Given the description of an element on the screen output the (x, y) to click on. 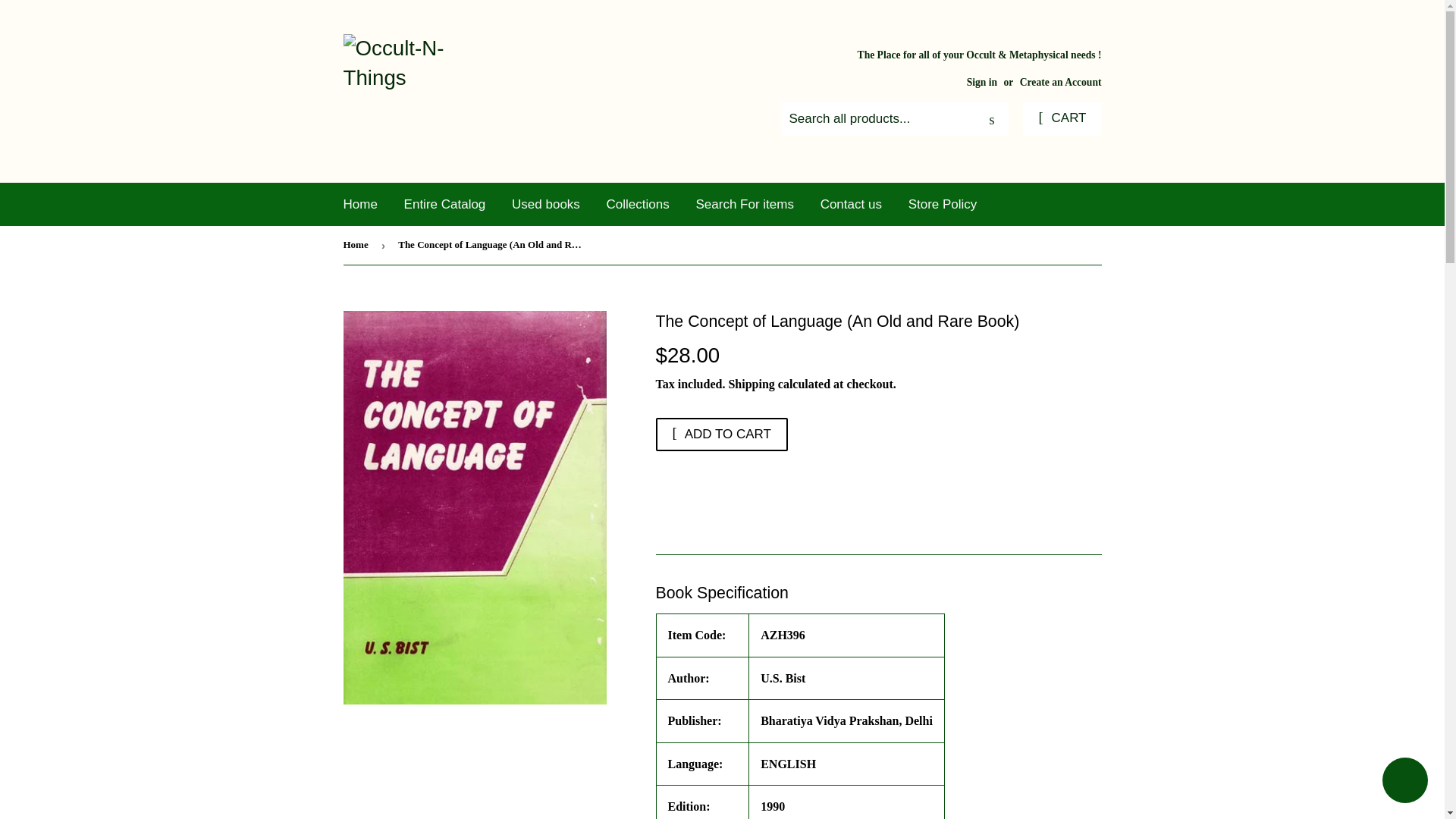
Search For items (744, 204)
Shipping (751, 383)
Contact us (851, 204)
Store Policy (942, 204)
Sign in (981, 81)
Bharatiya Vidya Prakshan, Delhi (846, 720)
Entire Catalog (445, 204)
ADD TO CART (721, 434)
U.S. Bist (782, 677)
Collections (638, 204)
